Given the description of an element on the screen output the (x, y) to click on. 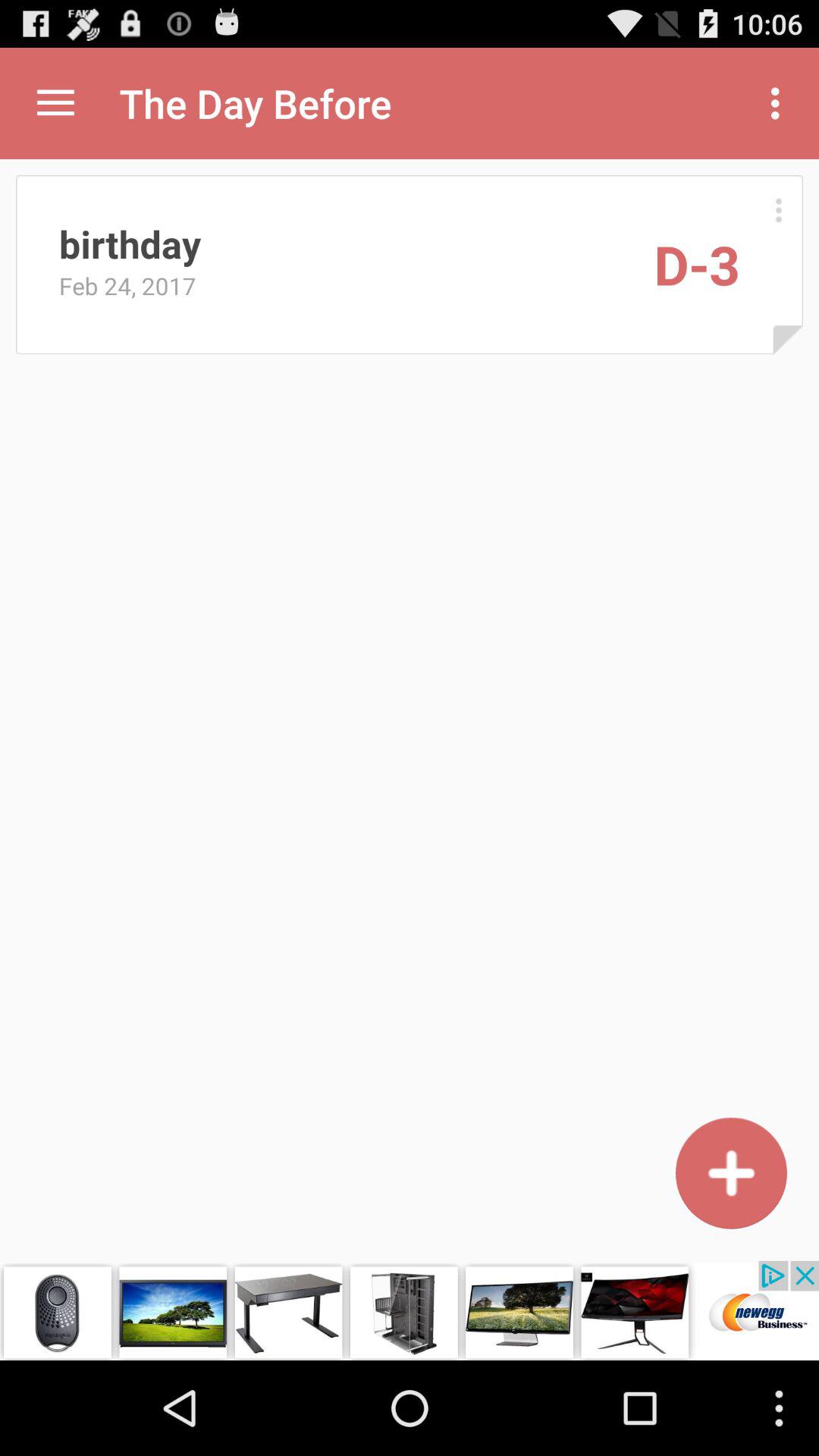
go to menu (777, 209)
